Given the description of an element on the screen output the (x, y) to click on. 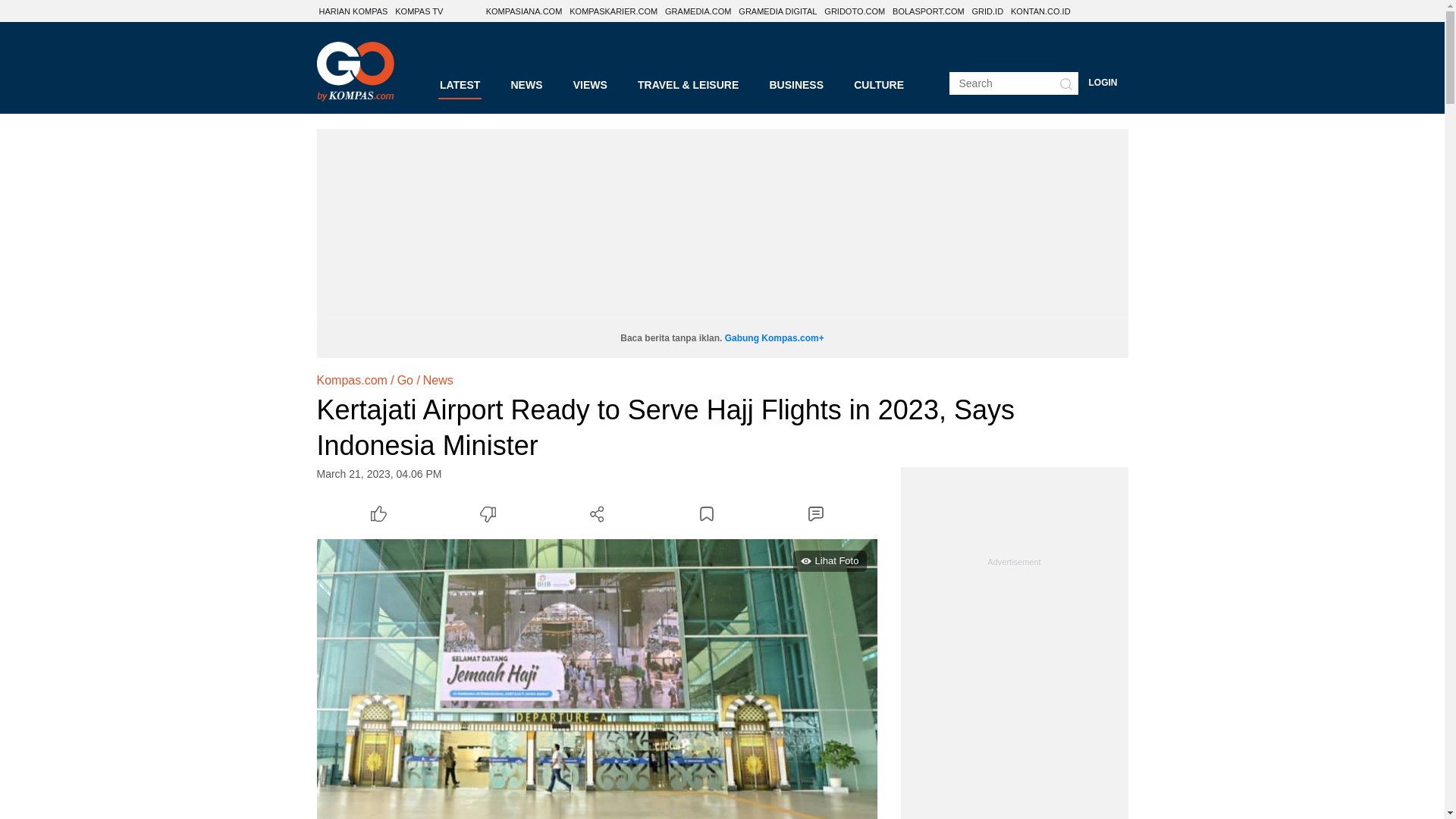
Go (405, 381)
GRAMEDIA.COM (697, 11)
VIEWS (589, 84)
LATEST (459, 84)
icon-search (1065, 82)
KOMPASKARIER.COM (613, 11)
BUSINESS (796, 84)
NEWS (525, 84)
Kompas.com (352, 381)
HARIAN KOMPAS (353, 11)
